Given the description of an element on the screen output the (x, y) to click on. 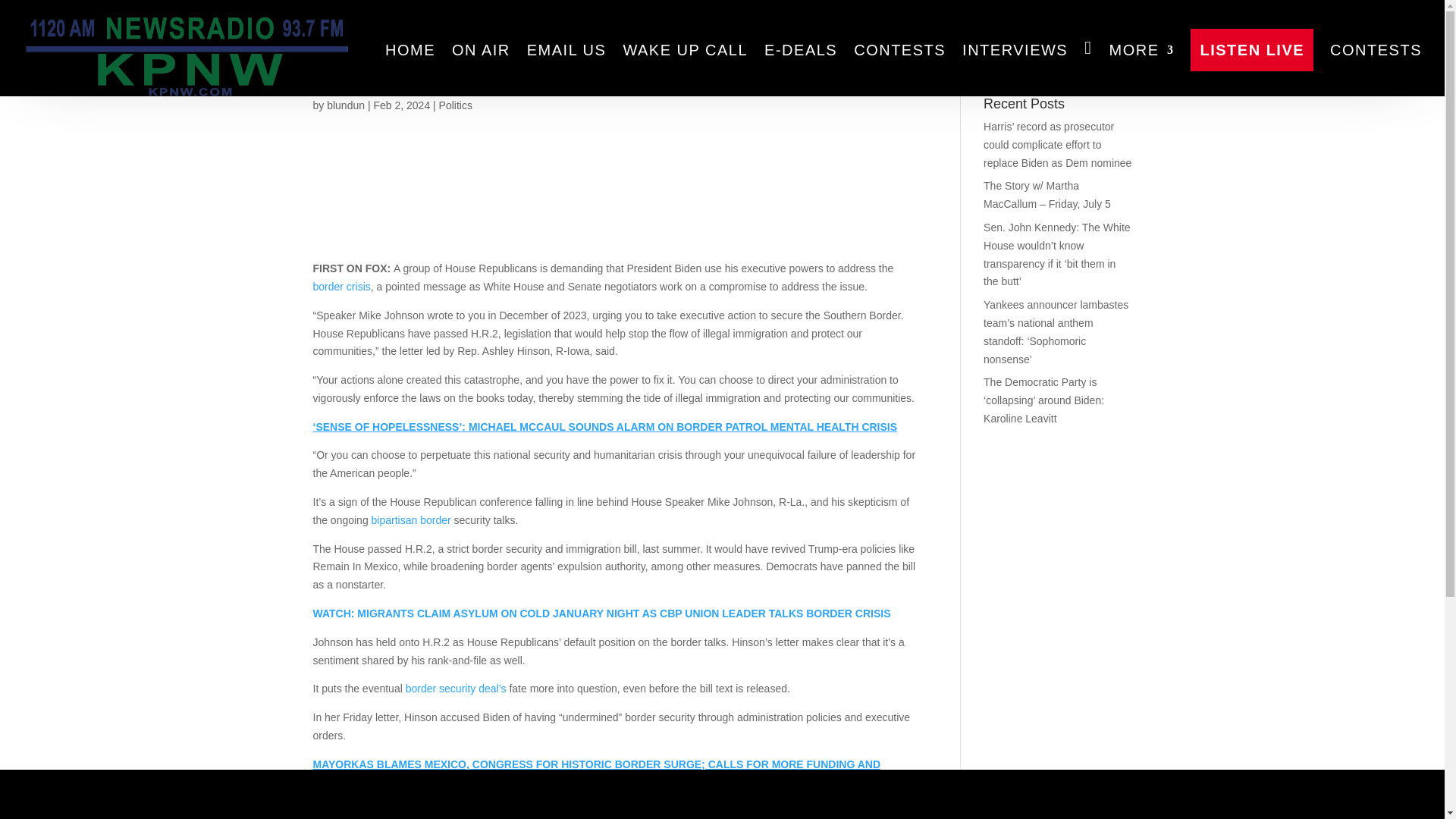
Politics (455, 105)
blundun (345, 105)
bipartisan border (411, 520)
INTERVIEWS (1014, 49)
LISTEN LIVE (1252, 49)
Search (1106, 59)
CONTESTS (898, 49)
Posts by blundun (345, 105)
WAKE UP CALL (685, 49)
border crisis (341, 286)
CONTESTS (1376, 49)
